Given the description of an element on the screen output the (x, y) to click on. 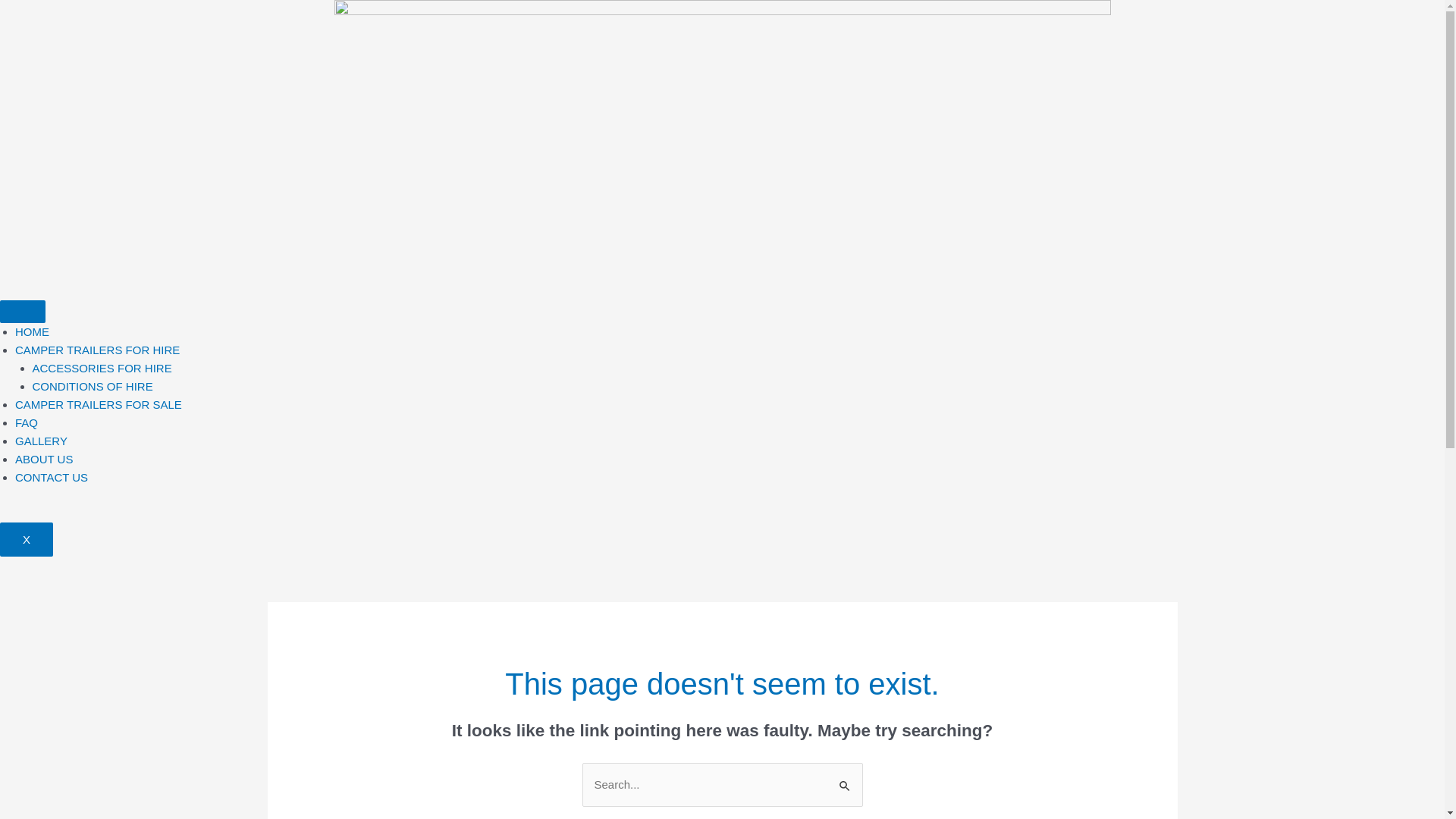
HOME Element type: text (32, 331)
FAQ Element type: text (26, 422)
CONTACT US Element type: text (51, 476)
X Element type: text (26, 538)
Search Element type: text (845, 777)
CAMPER TRAILERS FOR SALE Element type: text (98, 404)
CAMPER TRAILERS FOR HIRE Element type: text (97, 349)
ACCESSORIES FOR HIRE Element type: text (101, 367)
CONDITIONS OF HIRE Element type: text (91, 385)
ABOUT US Element type: text (43, 458)
GALLERY Element type: text (41, 440)
